Given the description of an element on the screen output the (x, y) to click on. 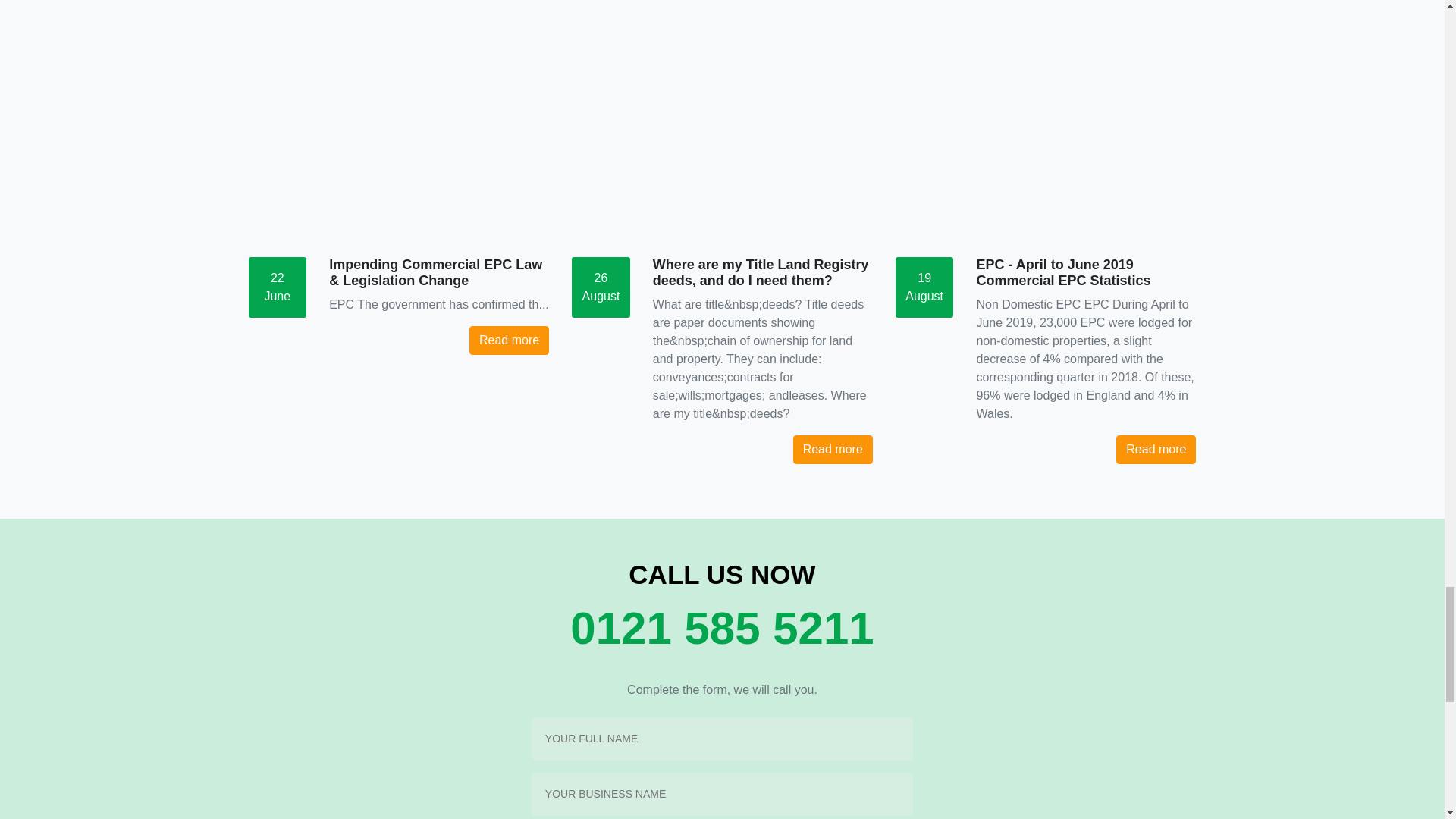
Read more (508, 339)
Read more (832, 449)
0121 585 5211 (722, 628)
Read more (1155, 449)
